Given the description of an element on the screen output the (x, y) to click on. 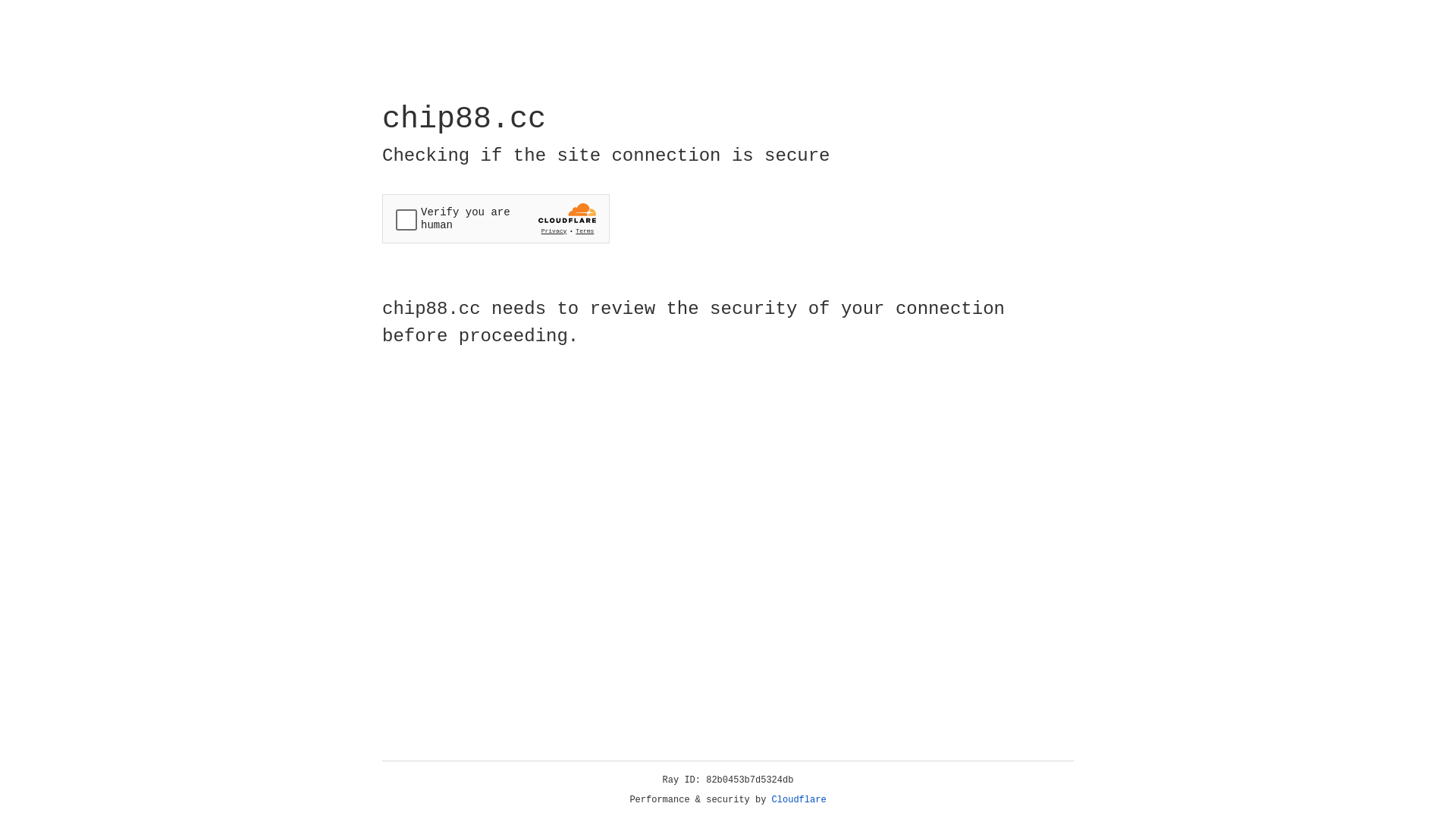
Widget containing a Cloudflare security challenge Element type: hover (495, 218)
Cloudflare Element type: text (798, 799)
